Given the description of an element on the screen output the (x, y) to click on. 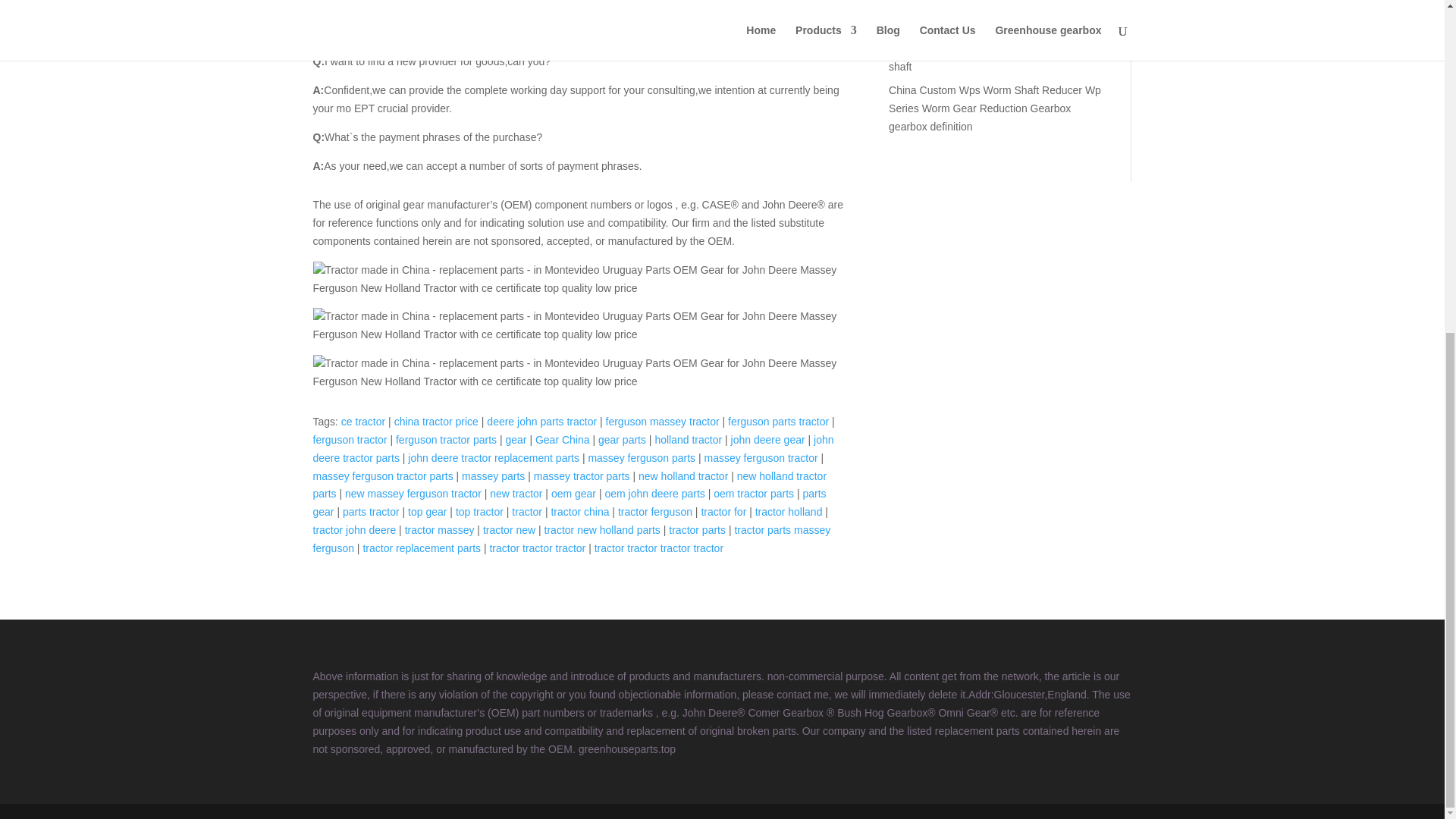
massey ferguson parts (641, 458)
ferguson parts tractor (778, 421)
ce tractor (362, 421)
john deere gear (767, 439)
ferguson tractor (350, 439)
gear (515, 439)
ferguson tractor parts (446, 439)
ferguson massey tractor (662, 421)
gear parts (622, 439)
china tractor price (436, 421)
massey ferguson tractor (759, 458)
deere john parts tractor (541, 421)
john deere tractor parts (572, 449)
holland tractor (687, 439)
john deere tractor replacement parts (493, 458)
